Given the description of an element on the screen output the (x, y) to click on. 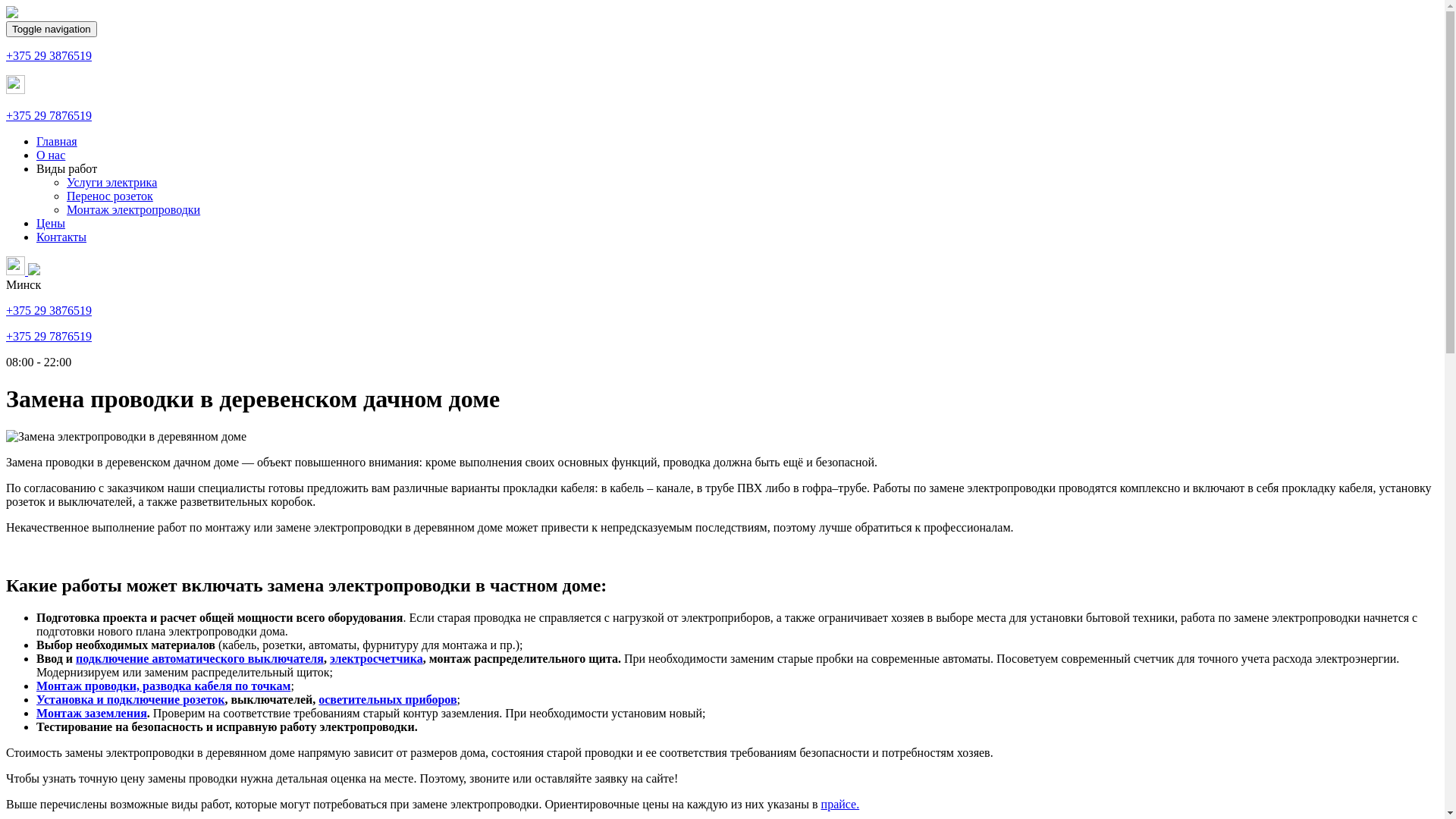
+375 29 3876519 Element type: text (48, 55)
Toggle navigation Element type: text (51, 29)
+375 29 7876519 Element type: text (48, 115)
+375 29 7876519 Element type: text (48, 335)
+375 29 3876519 Element type: text (48, 310)
